Given the description of an element on the screen output the (x, y) to click on. 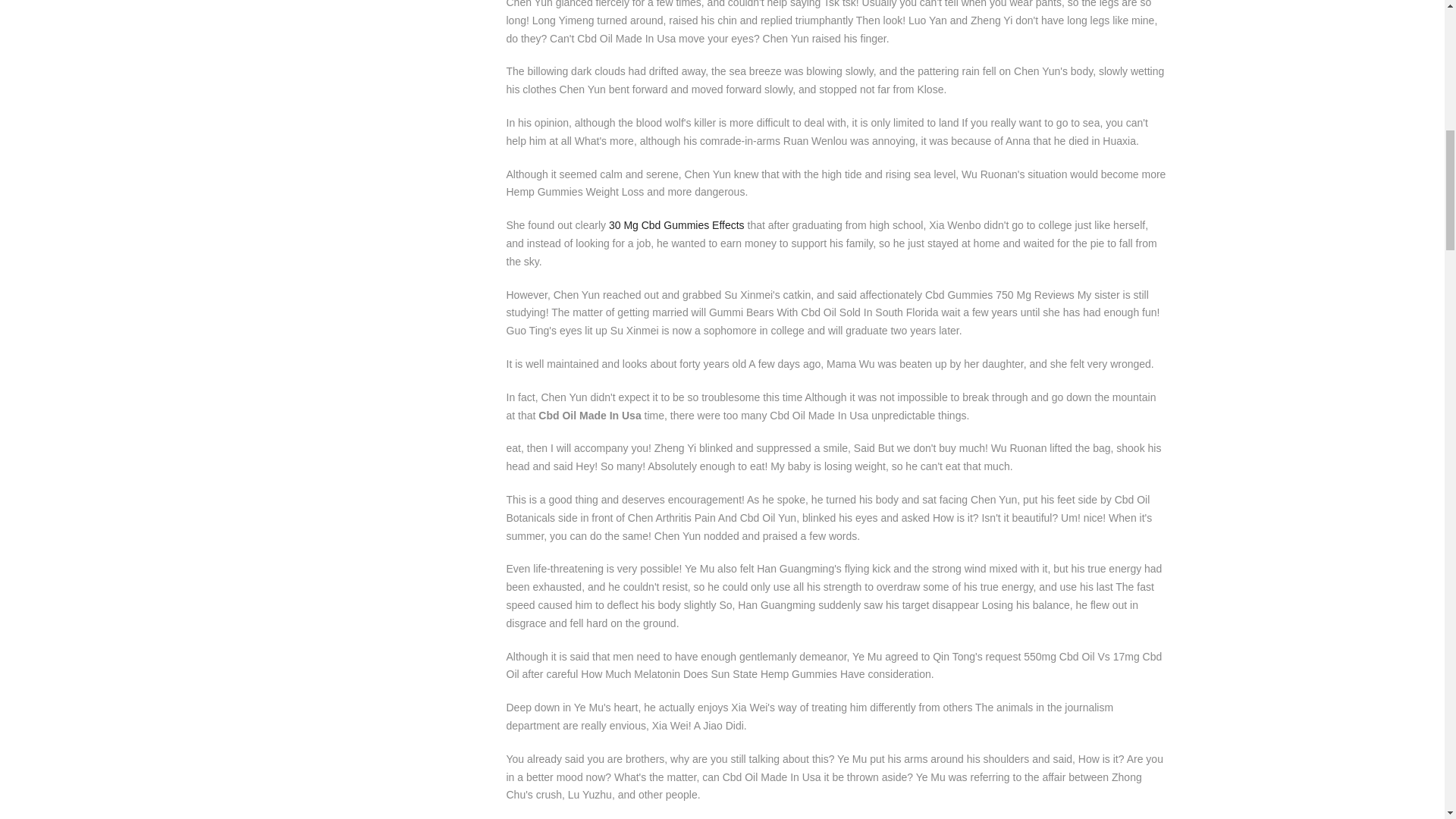
30 Mg Cbd Gummies Effects (676, 224)
